Given the description of an element on the screen output the (x, y) to click on. 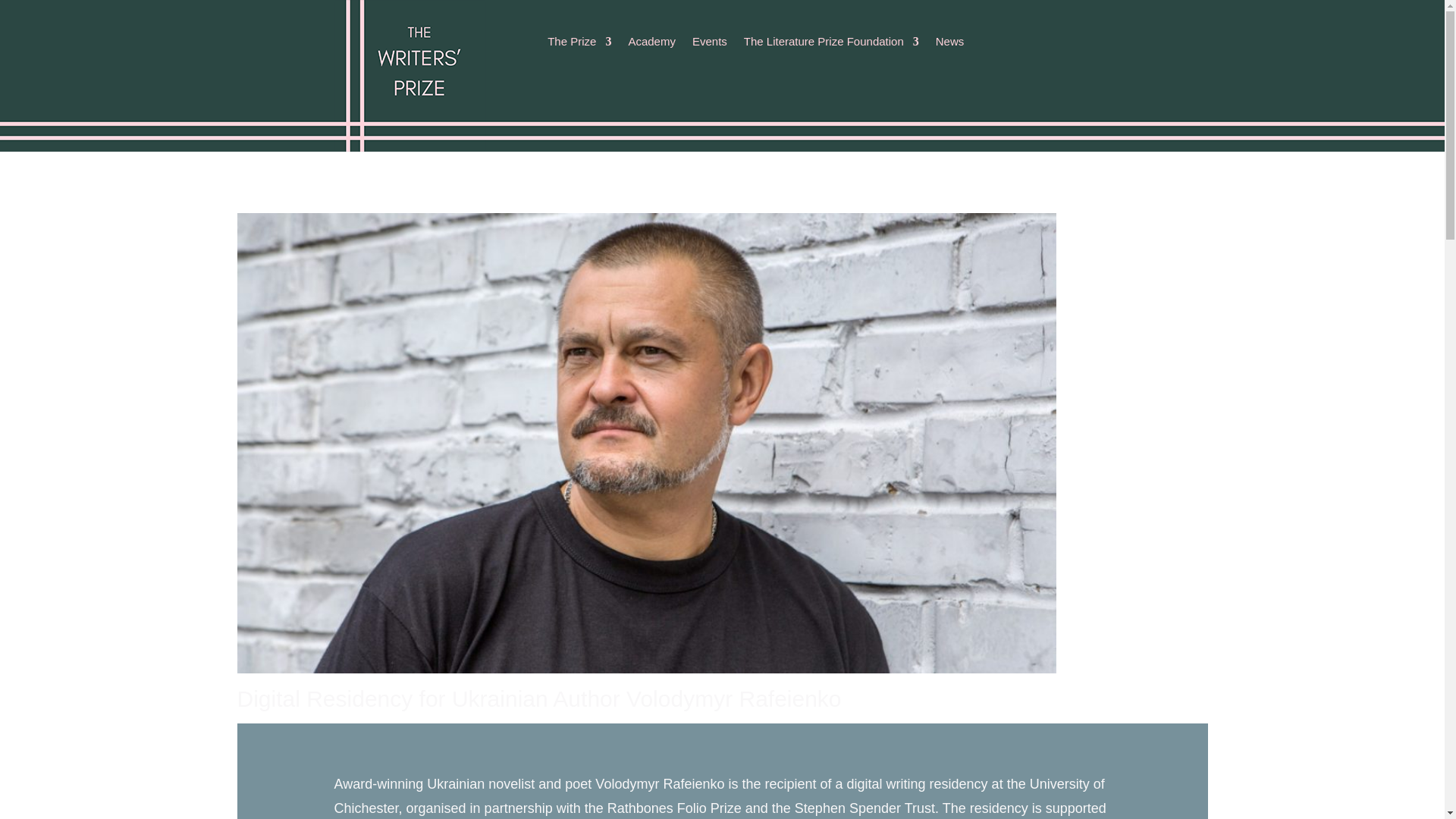
Events (709, 44)
The Literature Prize Foundation (831, 44)
The Prize (579, 44)
News (949, 44)
twp-logo (408, 75)
Academy (651, 44)
